Given the description of an element on the screen output the (x, y) to click on. 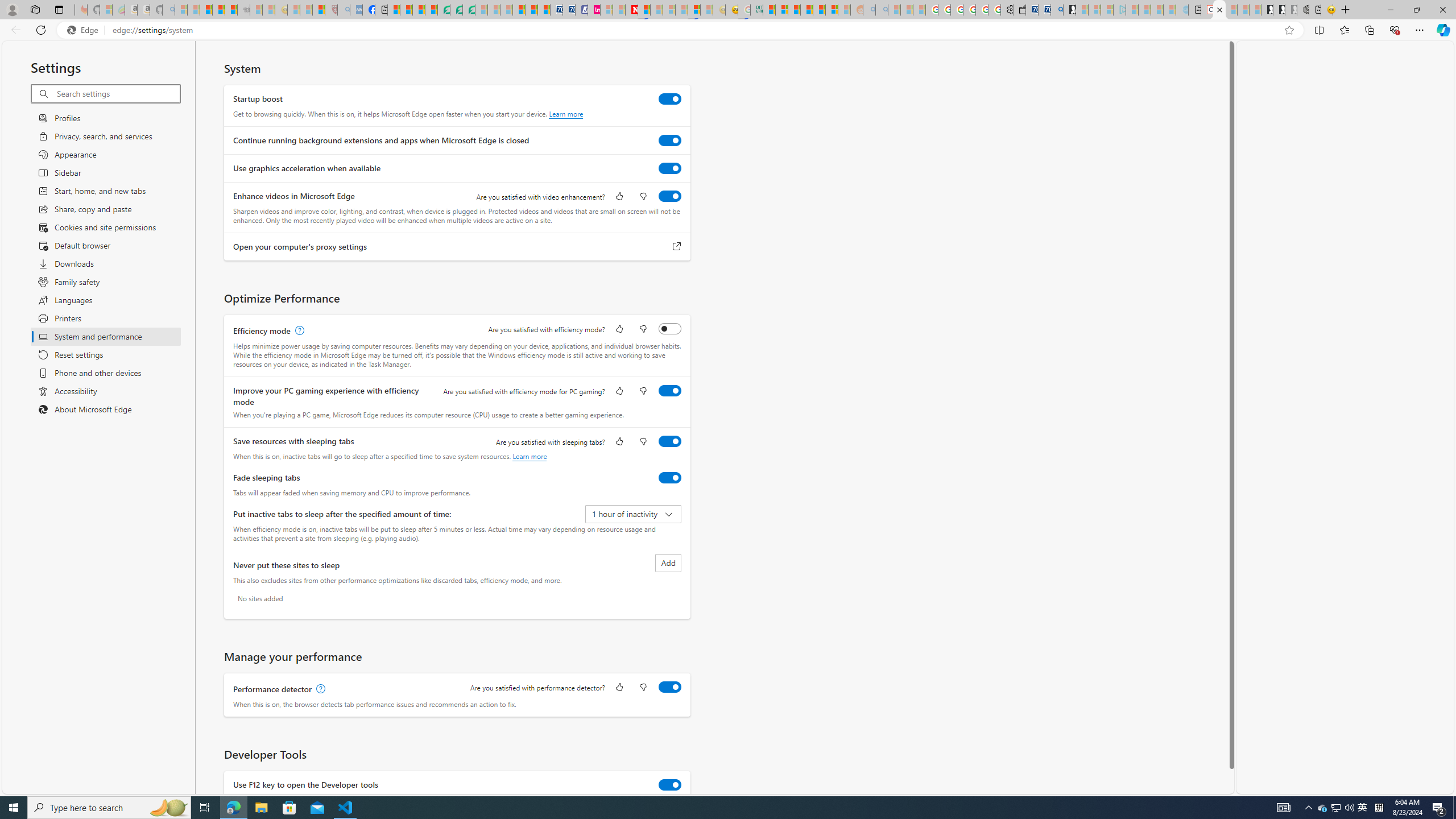
Use F12 key to open the Developer tools (669, 784)
Efficiency mode, learn more (298, 330)
Efficiency mode (669, 328)
Local - MSN (318, 9)
